Given the description of an element on the screen output the (x, y) to click on. 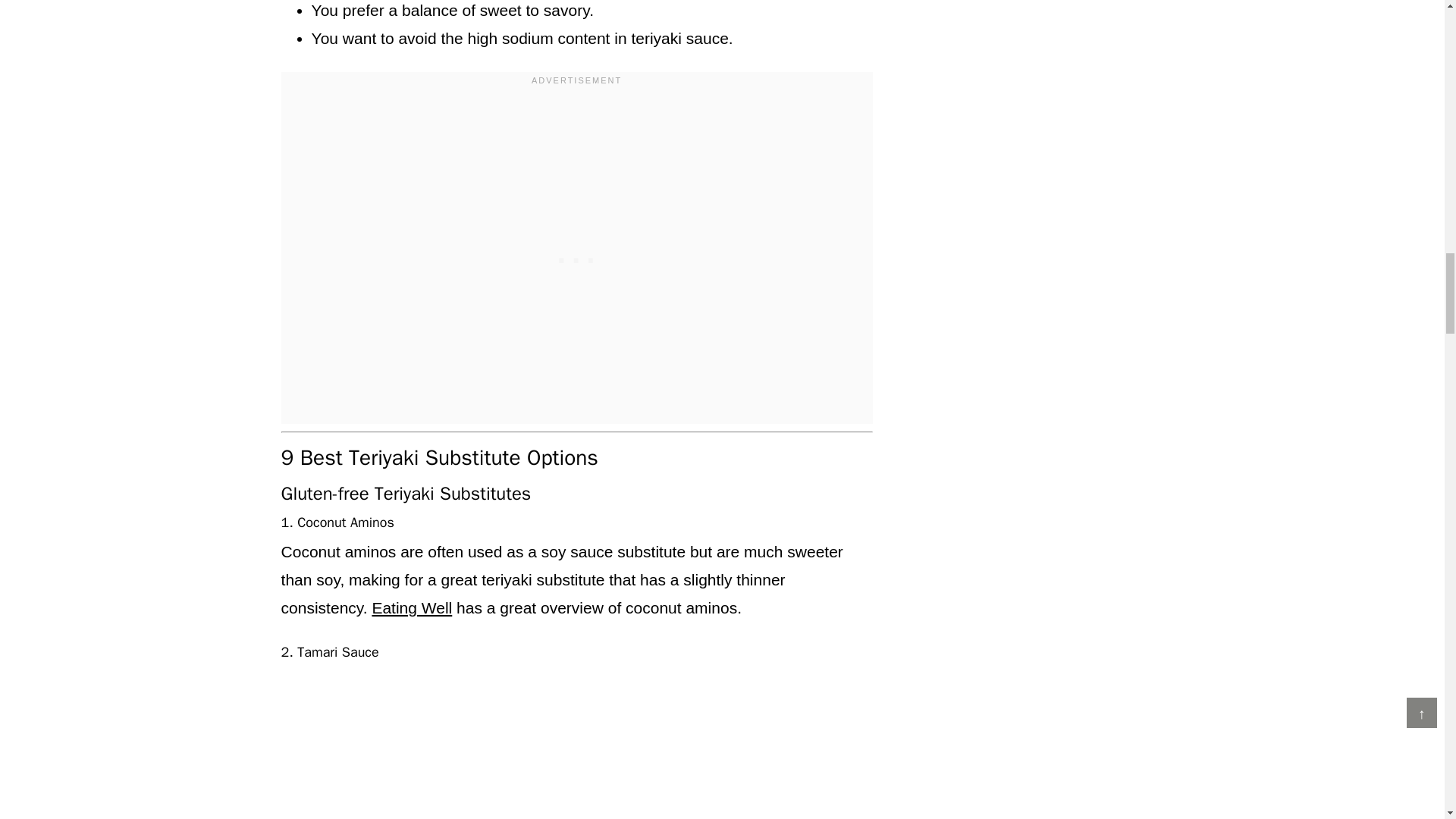
Eating Well (411, 607)
